Given the description of an element on the screen output the (x, y) to click on. 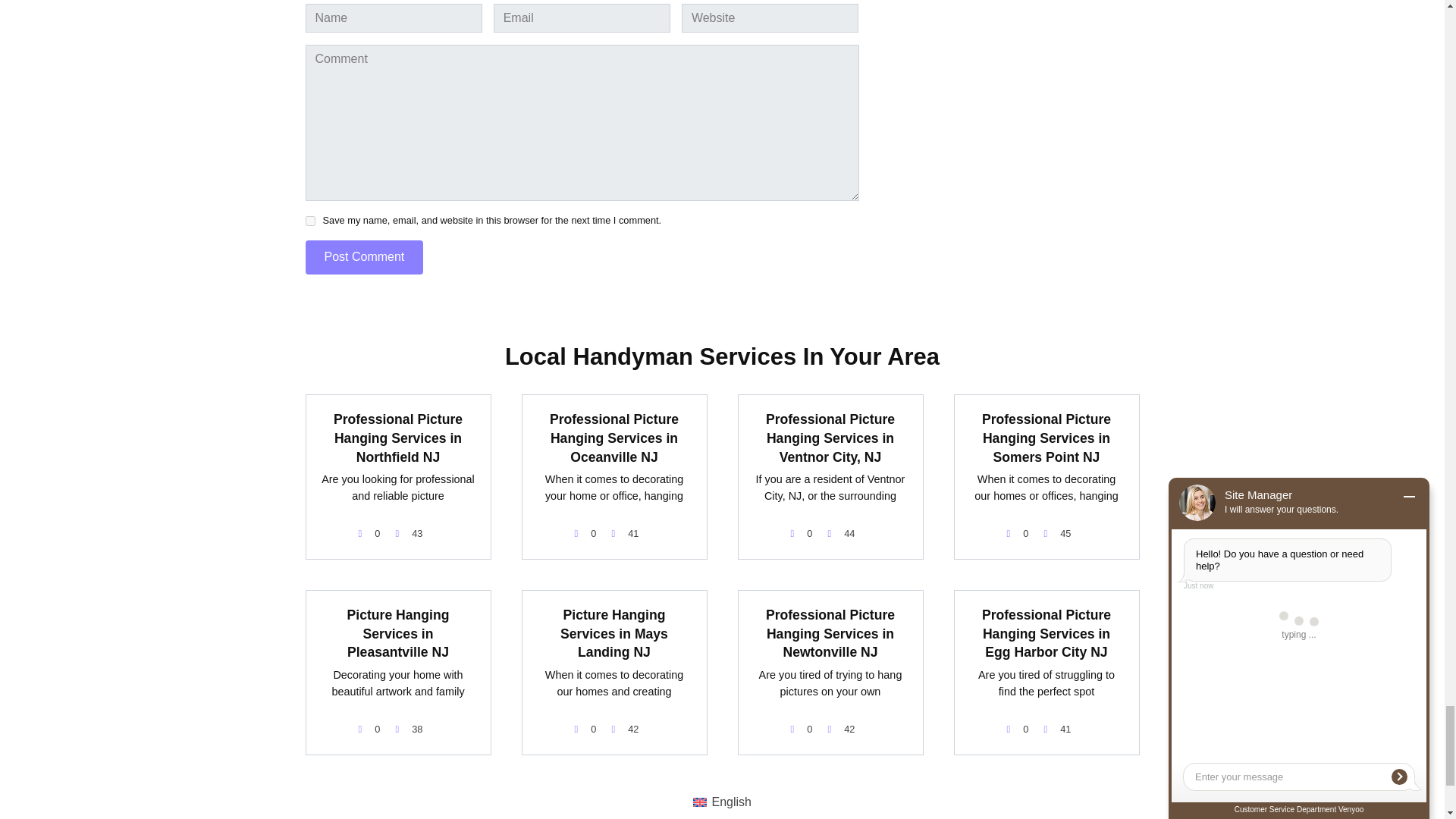
Post Comment (363, 257)
yes (309, 221)
